Given the description of an element on the screen output the (x, y) to click on. 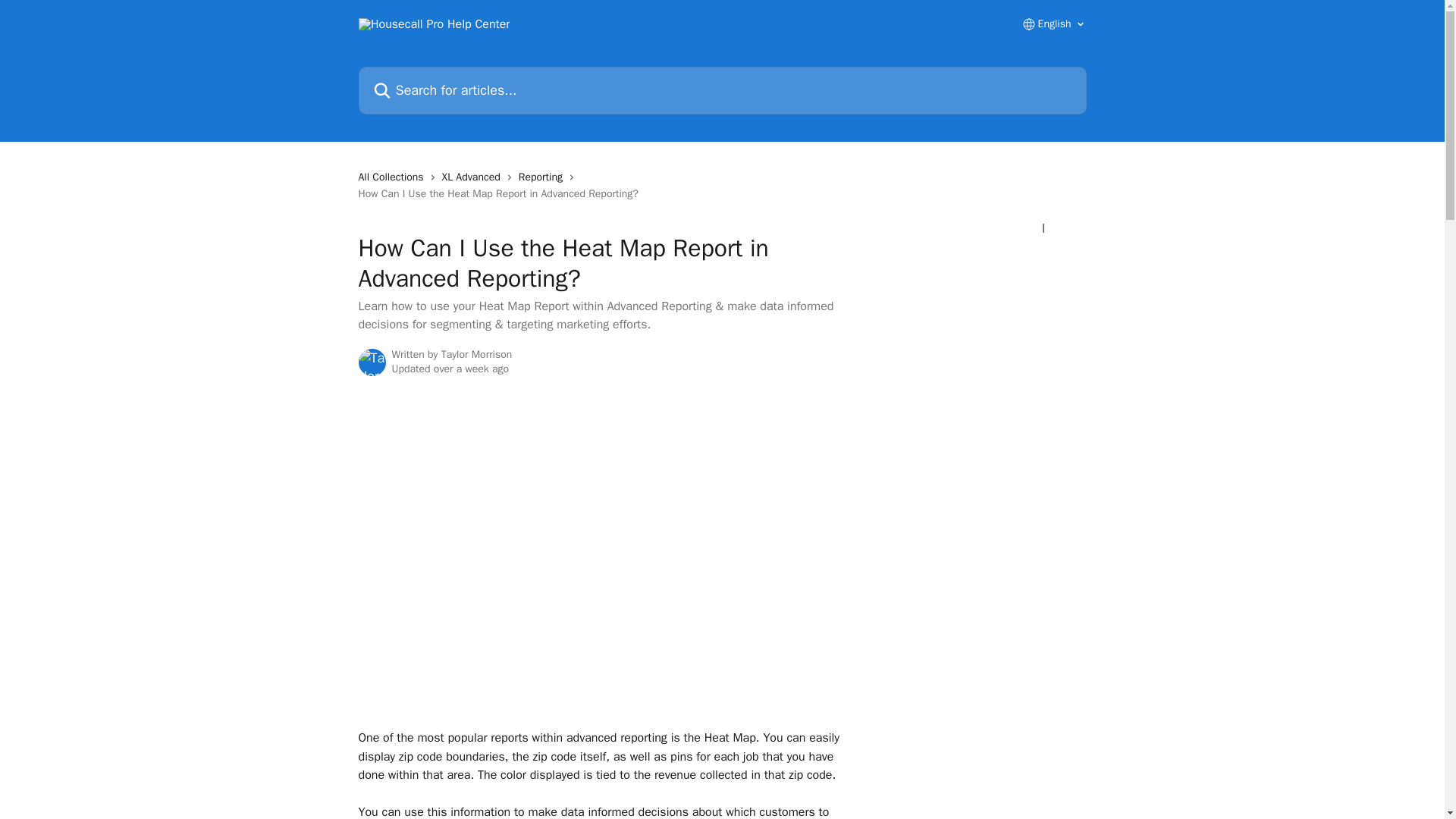
Reporting (543, 176)
All Collections (393, 176)
XL Advanced (474, 176)
